Given the description of an element on the screen output the (x, y) to click on. 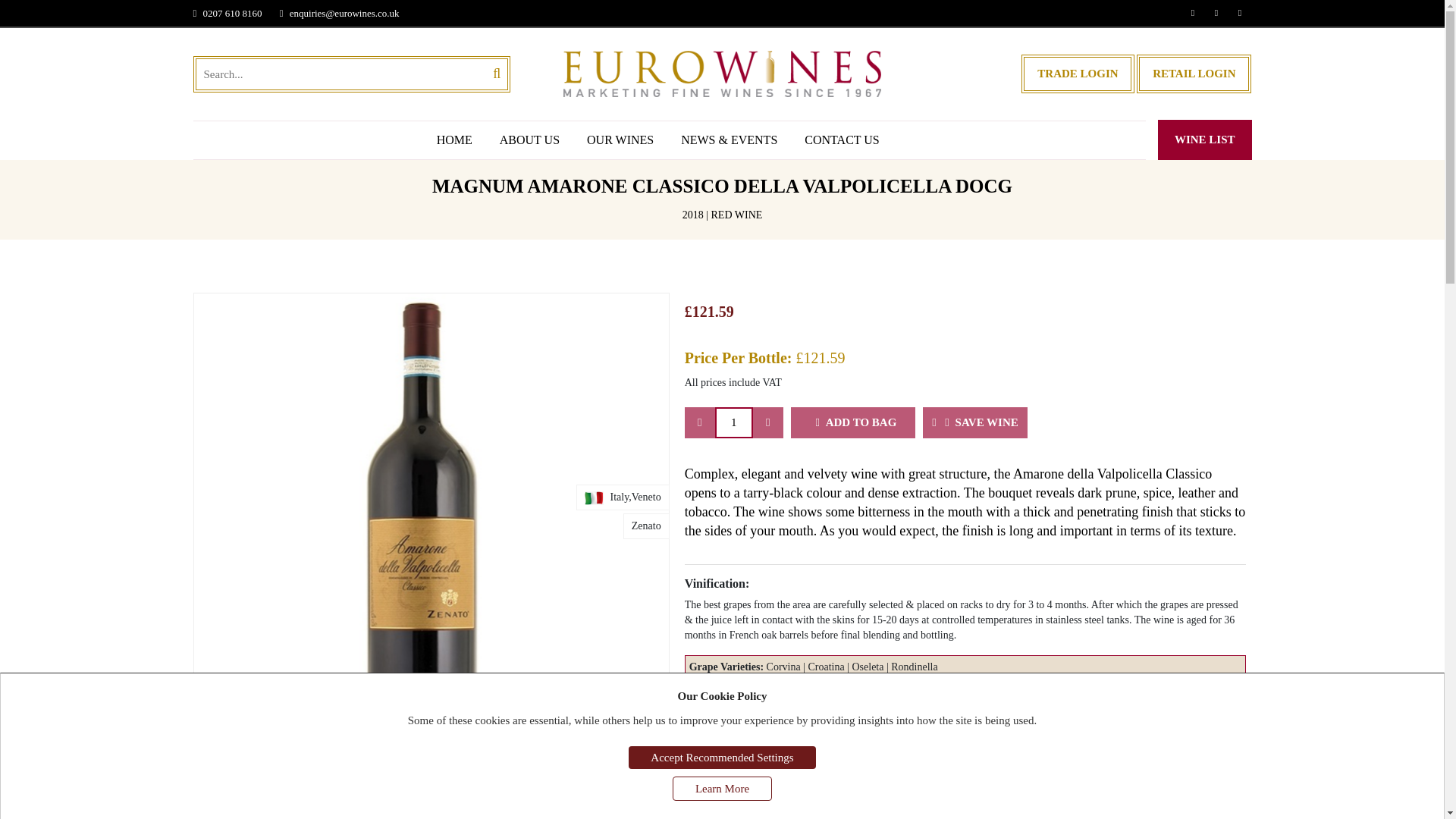
ABOUT US (529, 139)
OUR WINES (620, 139)
CONTACT US (841, 139)
TRADE LOGIN (1078, 73)
1 (733, 422)
HOME (453, 139)
WINE LIST (1204, 139)
RETAIL LOGIN (1193, 73)
